Given the description of an element on the screen output the (x, y) to click on. 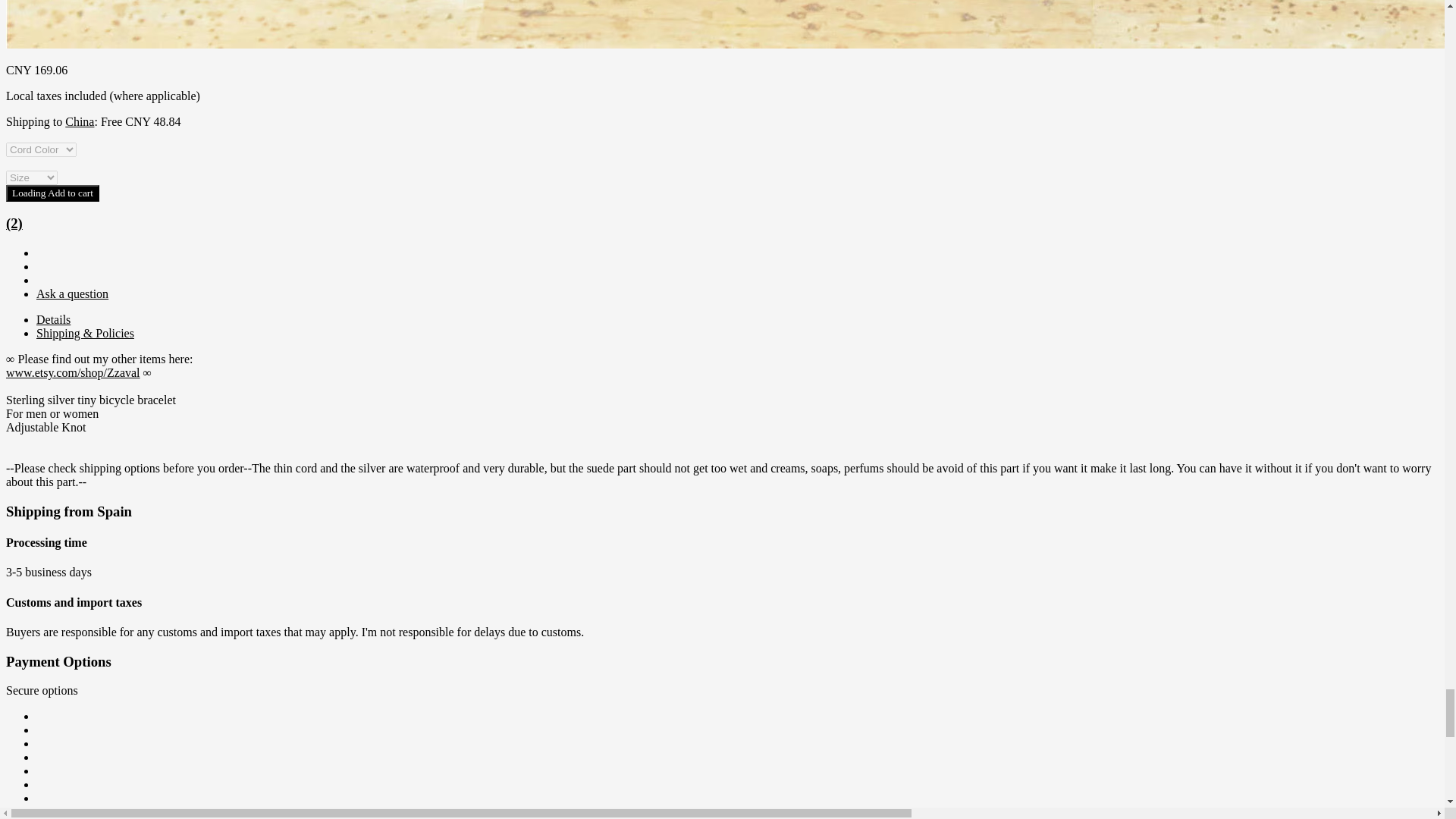
China (79, 121)
Details (52, 318)
Ask a question (71, 293)
Loading Add to cart (52, 193)
